Given the description of an element on the screen output the (x, y) to click on. 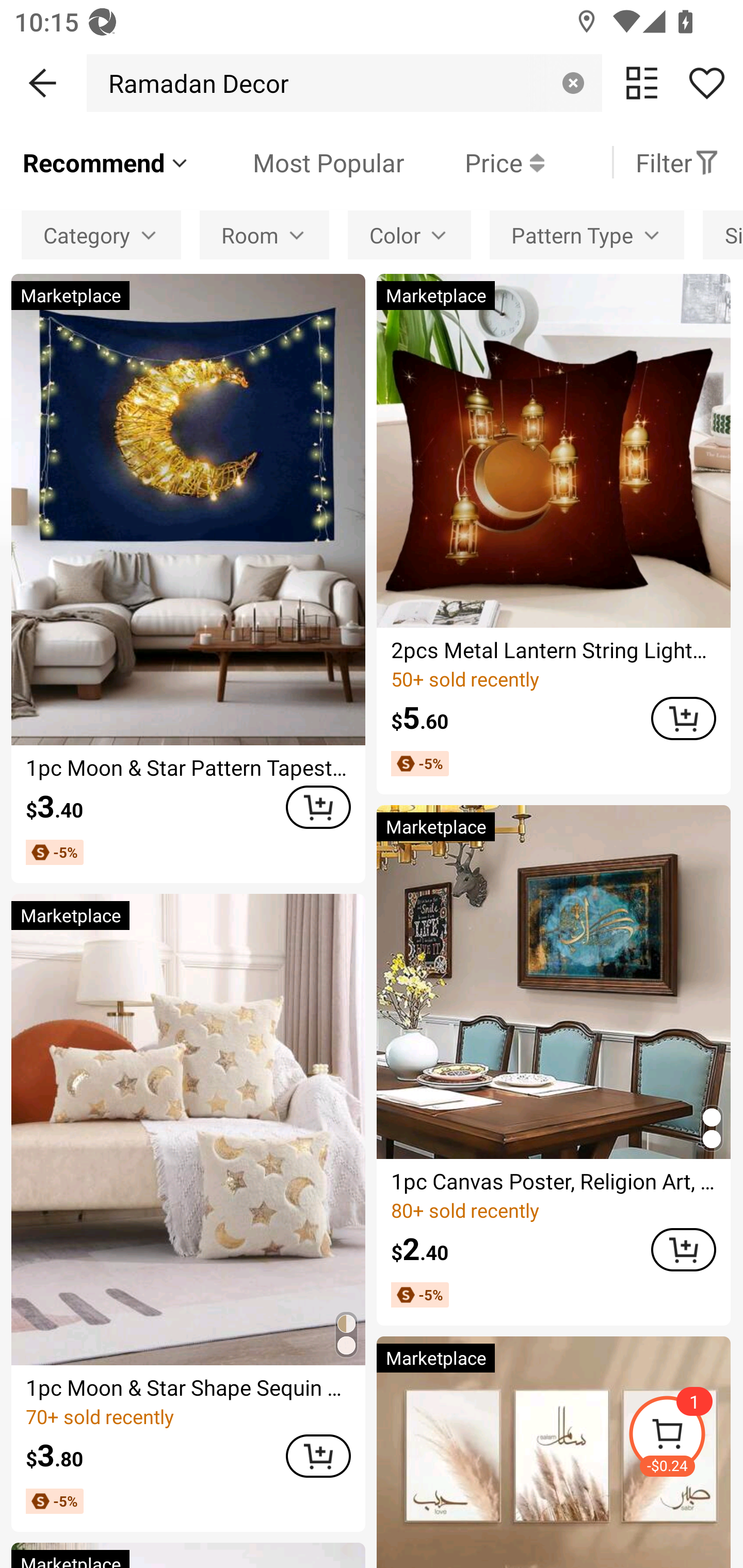
Ramadan Decor (192, 82)
Clear (572, 82)
change view (641, 82)
Share (706, 82)
Recommend (106, 162)
Most Popular (297, 162)
Price (474, 162)
Filter (677, 162)
Category (101, 234)
Room (264, 234)
Color (409, 234)
Pattern Type (586, 234)
ADD TO CART (683, 718)
ADD TO CART (318, 807)
ADD TO CART (683, 1249)
-$0.24 (685, 1436)
ADD TO CART (318, 1455)
